Given the description of an element on the screen output the (x, y) to click on. 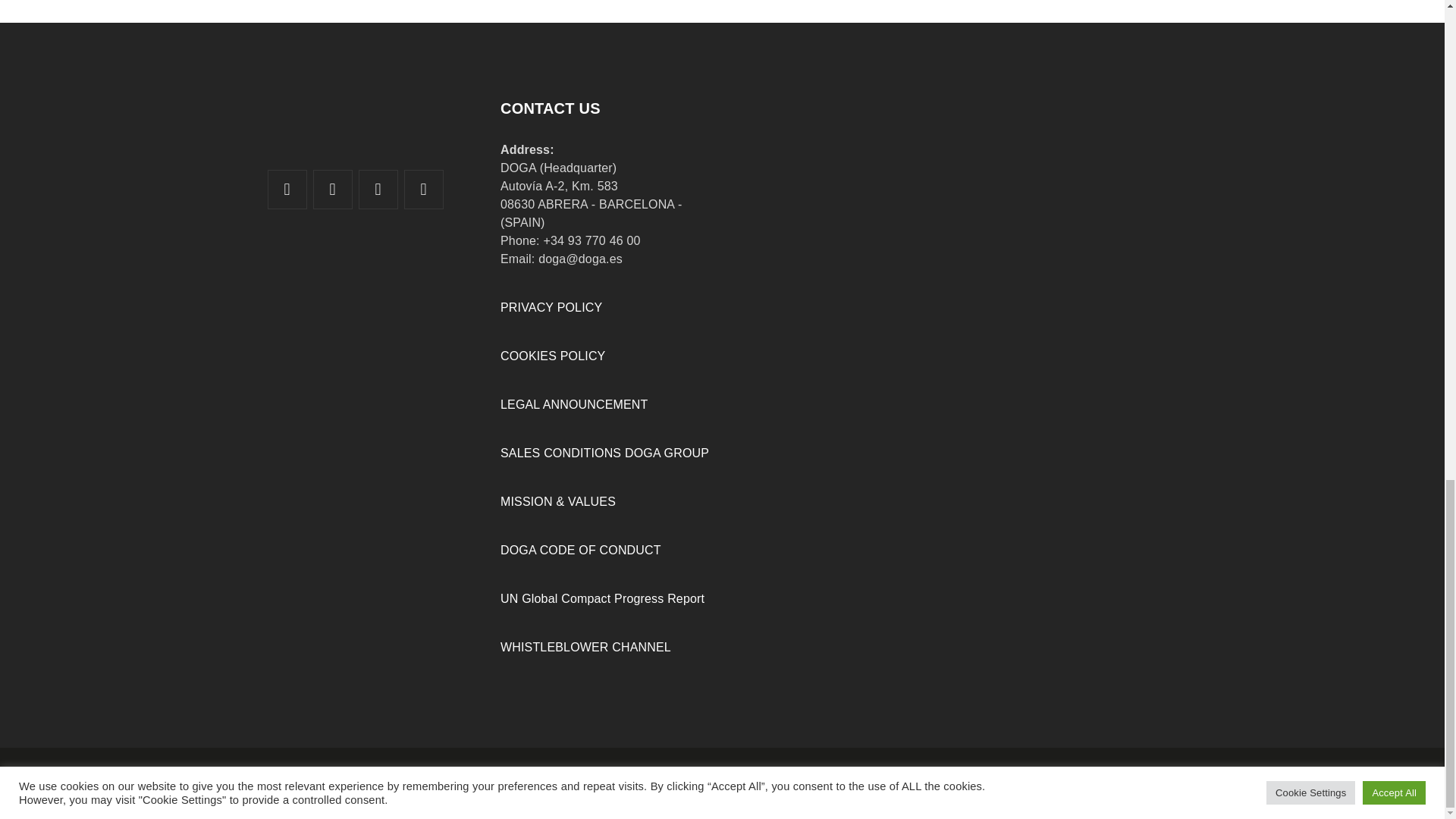
YouTube (378, 189)
Instagram (423, 189)
Twitter (286, 189)
LinkedIn (333, 189)
